Given the description of an element on the screen output the (x, y) to click on. 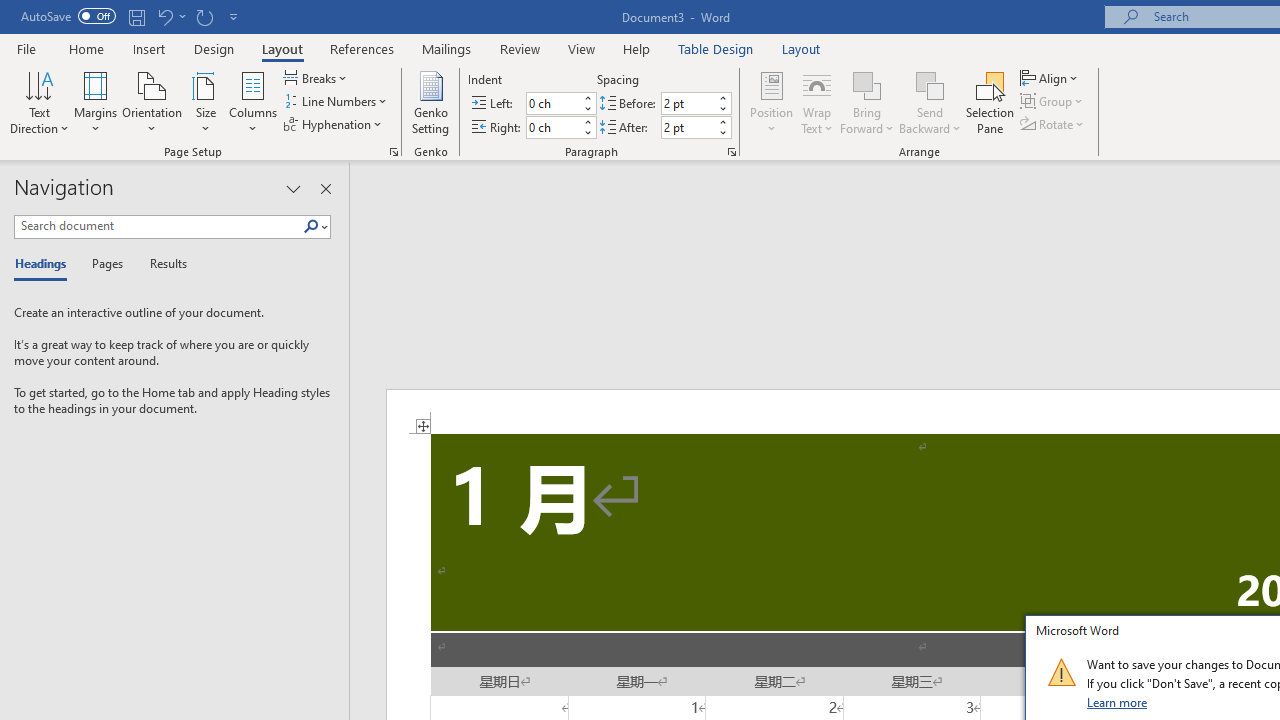
Columns (253, 102)
More (722, 121)
Spacing After (687, 127)
Wrap Text (817, 102)
Less (722, 132)
